Given the description of an element on the screen output the (x, y) to click on. 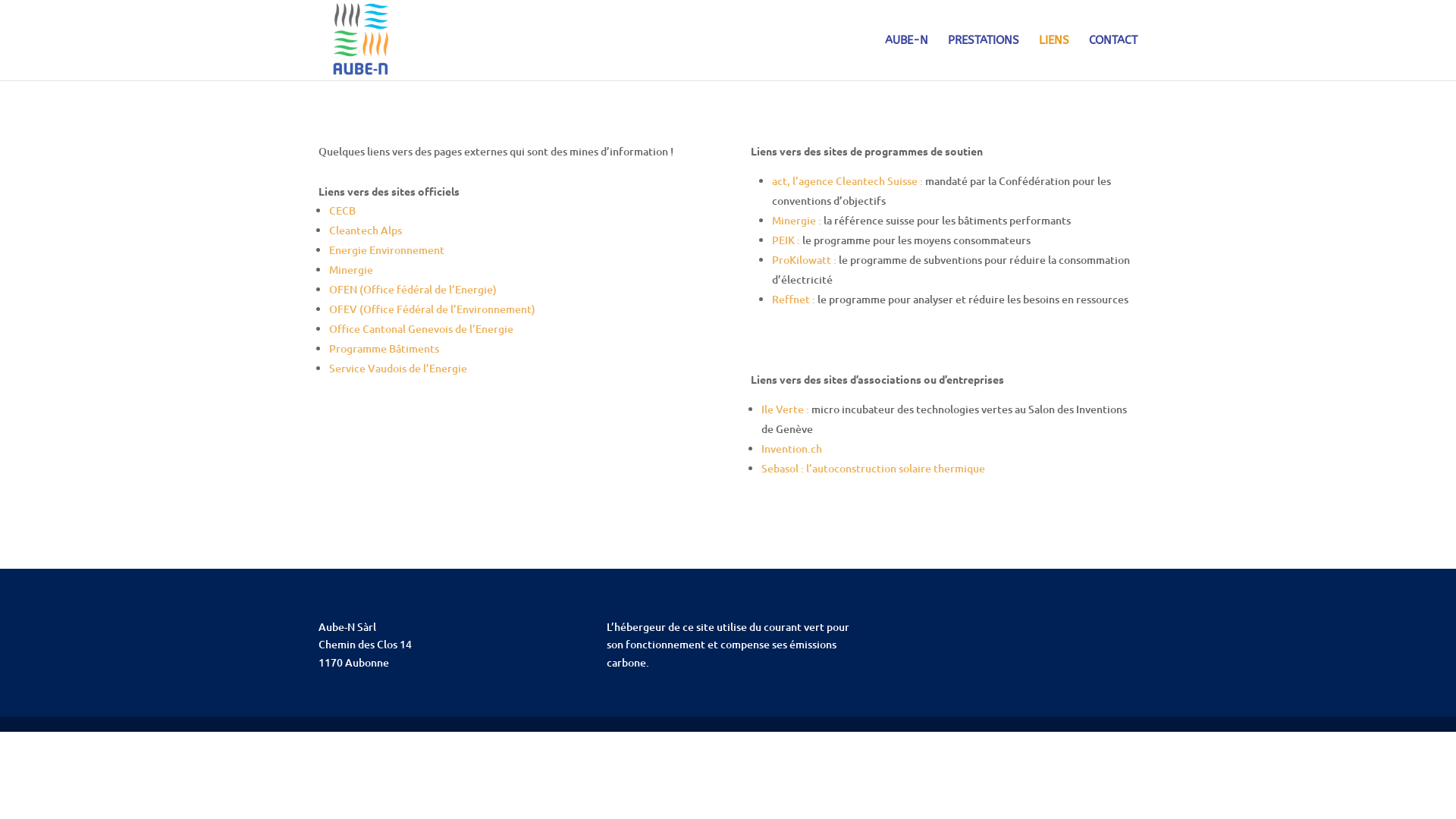
PEIK : Element type: text (786, 239)
CONTACT Element type: text (1112, 57)
Invention.ch Element type: text (791, 448)
Cleantech Alps Element type: text (365, 229)
Energie Environnement Element type: text (386, 249)
AUBE-N Element type: text (906, 57)
Minergie Element type: text (351, 269)
ProKilowatt : Element type: text (803, 259)
Reffnet : Element type: text (794, 298)
LIENS Element type: text (1053, 57)
CECB Element type: text (342, 210)
Ile Verte : Element type: text (785, 408)
Minergie : Element type: text (797, 220)
PRESTATIONS Element type: text (983, 57)
